Given the description of an element on the screen output the (x, y) to click on. 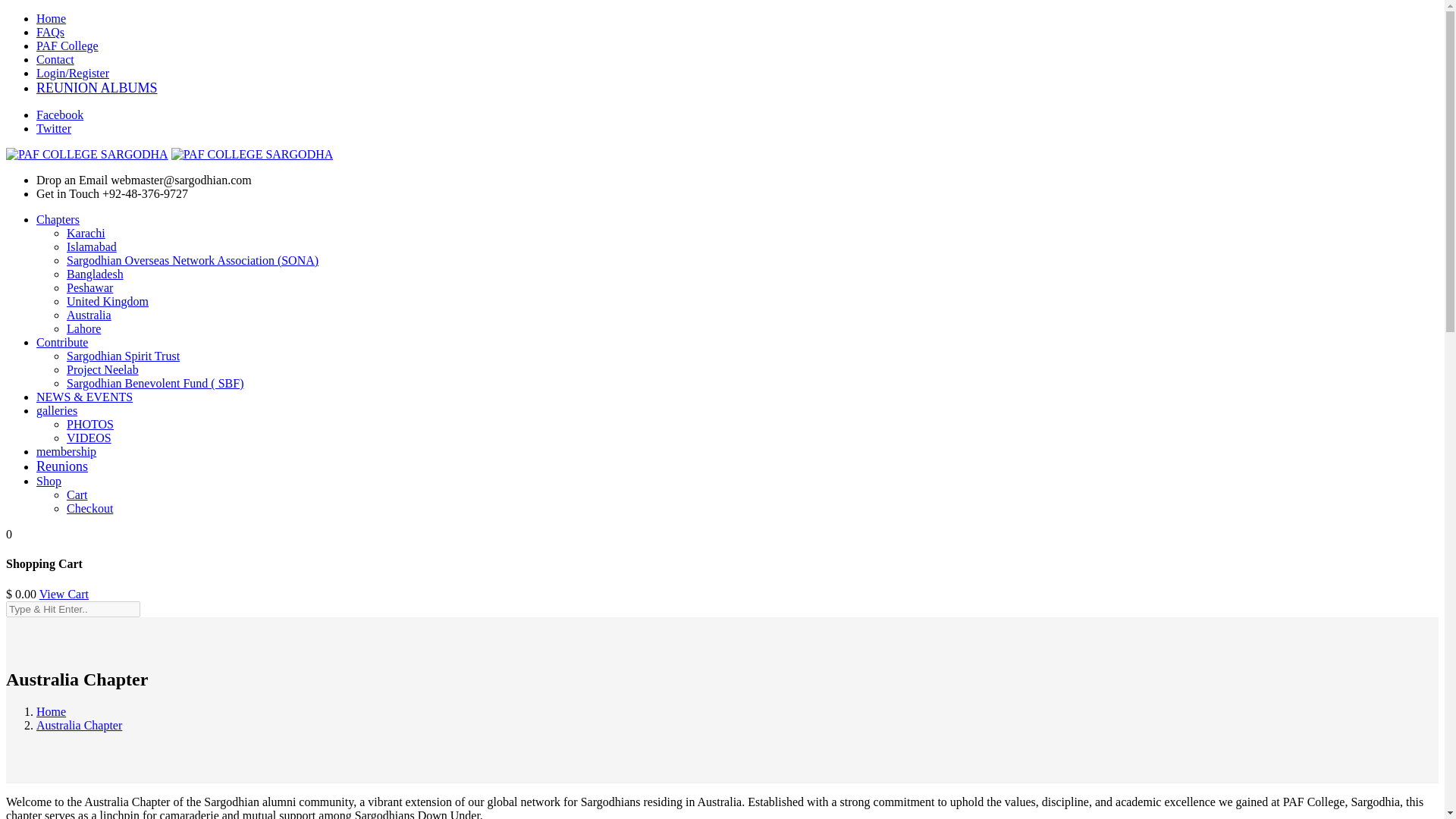
Twitter (53, 128)
Home (50, 18)
PAF College (67, 45)
Facebook (59, 114)
Australia Chapter (79, 725)
Contact (55, 59)
FAQs (50, 31)
View Cart (63, 594)
Home (50, 711)
